Given the description of an element on the screen output the (x, y) to click on. 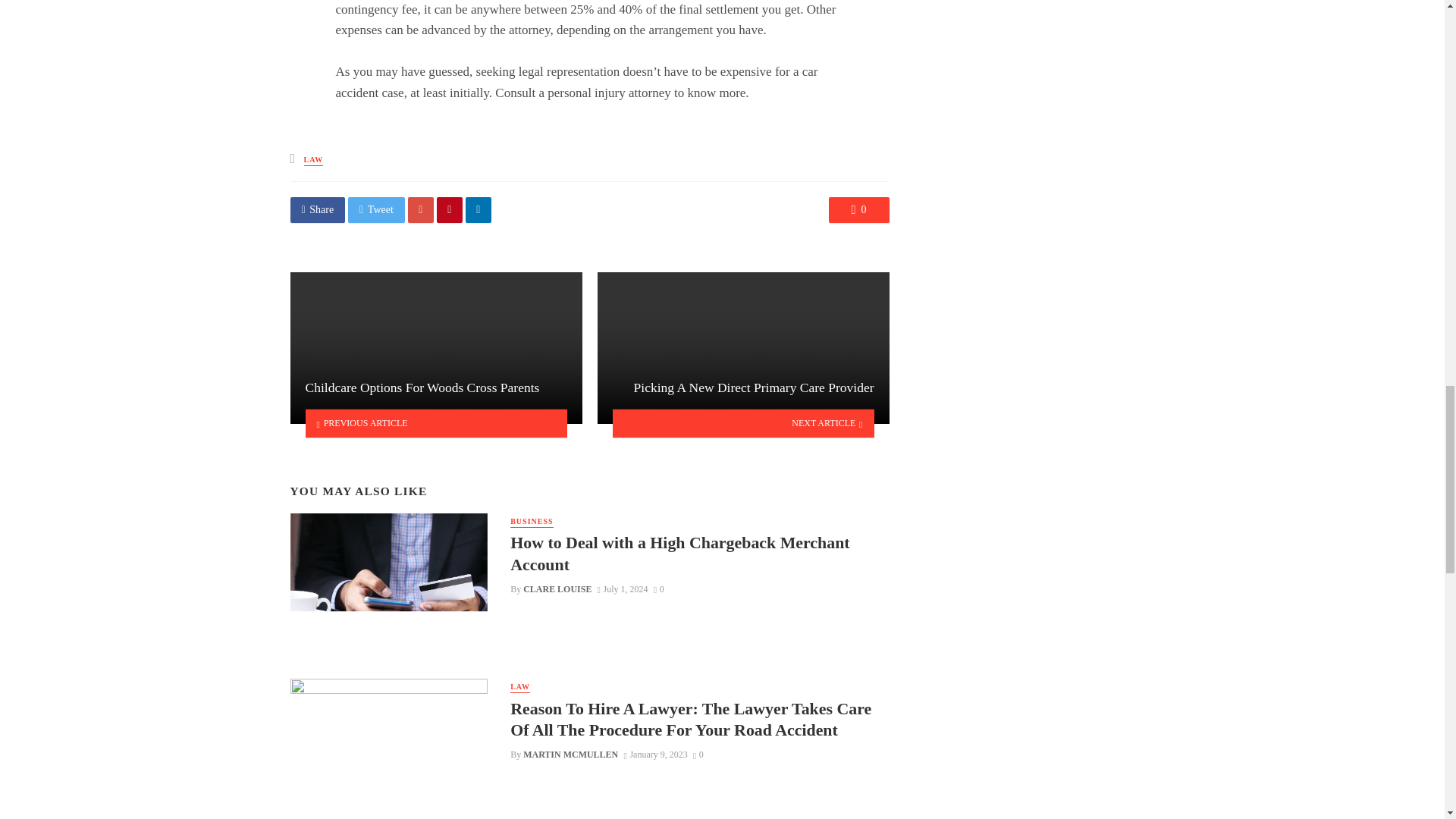
BUSINESS (532, 521)
NEXT ARTICLE (742, 423)
Tweet (375, 209)
Share on Twitter (375, 209)
0 (658, 588)
Share (317, 209)
0 (858, 209)
Share on Pinterest (449, 209)
How to Deal with a High Chargeback Merchant Account (699, 553)
Share on Linkedin (478, 209)
